Given the description of an element on the screen output the (x, y) to click on. 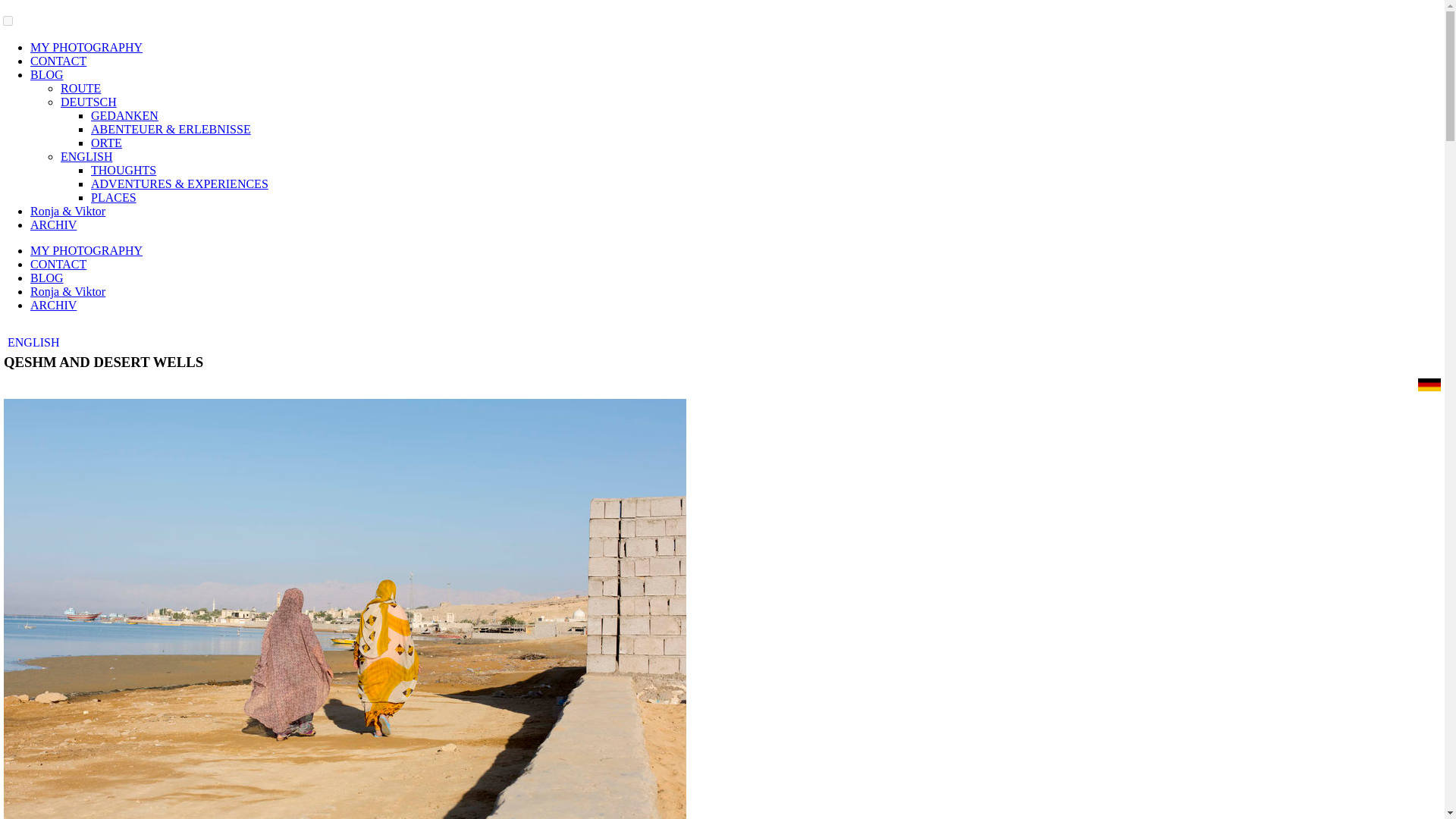
MY PHOTOGRAPHY (86, 47)
on (7, 20)
DEUTSCH (88, 101)
THOUGHTS (122, 169)
ENGLISH (33, 341)
CONTACT (57, 264)
ORTE (106, 142)
ROUTE (80, 88)
GEDANKEN (124, 115)
MY PHOTOGRAPHY (86, 250)
BLOG (47, 277)
CONTACT (57, 60)
ARCHIV (53, 224)
BLOG (47, 74)
ARCHIV (53, 305)
